Given the description of an element on the screen output the (x, y) to click on. 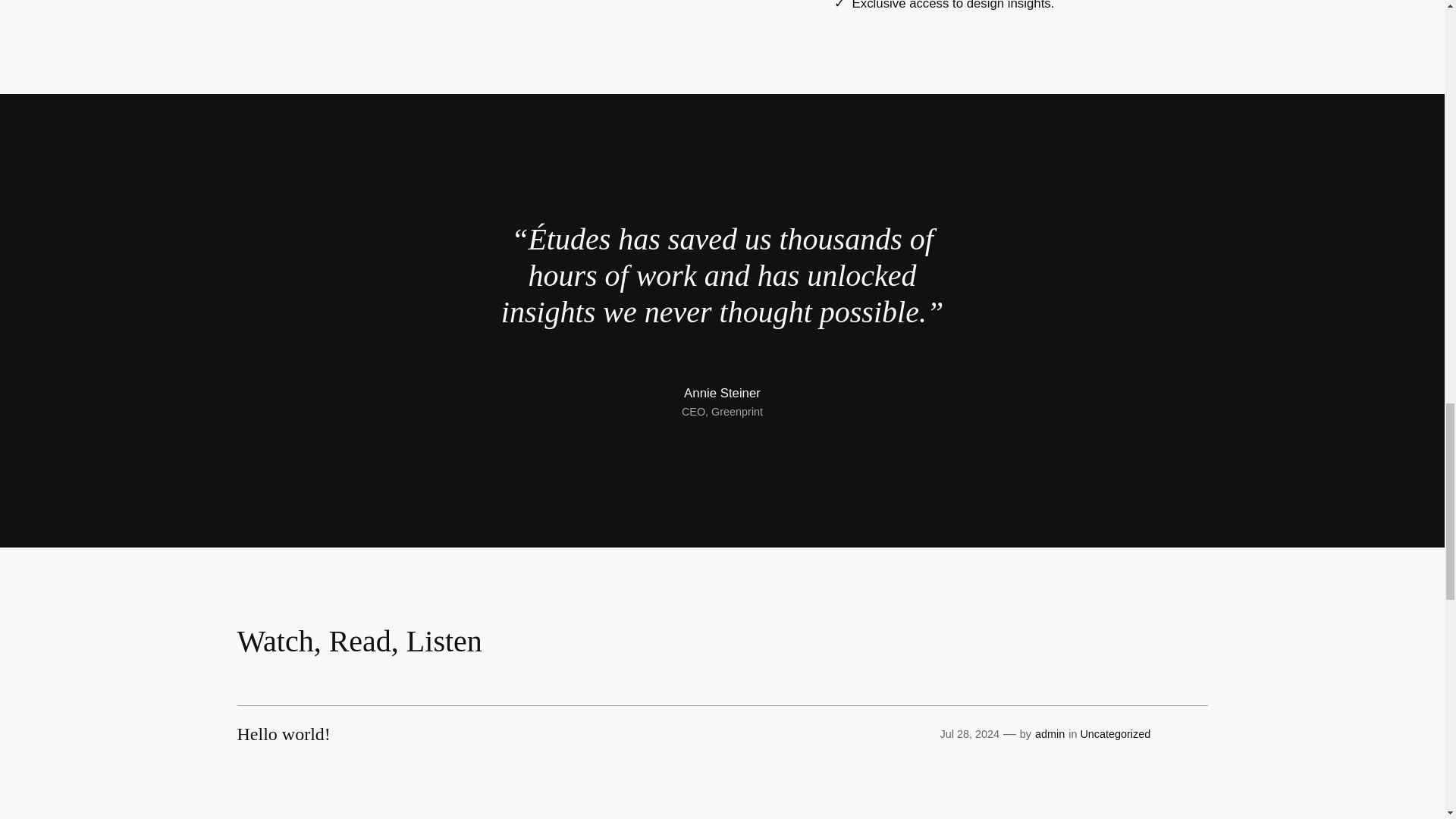
Jul 28, 2024 (968, 734)
admin (1049, 734)
Hello world! (282, 733)
Uncategorized (1115, 734)
